Given the description of an element on the screen output the (x, y) to click on. 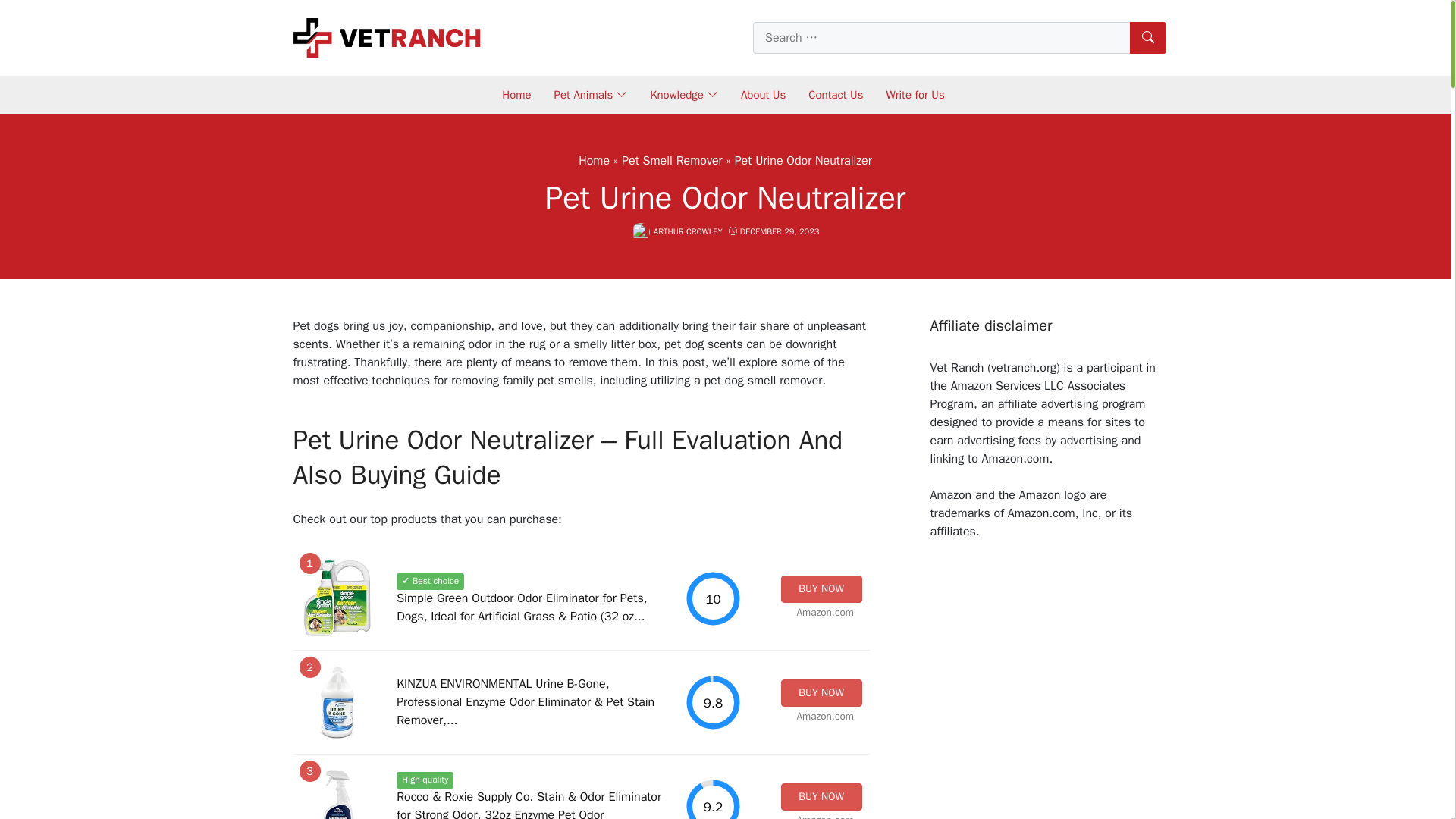
Pet Animals (590, 94)
View all posts by Arthur Crowley (687, 231)
Vet Ranch (386, 37)
9.8 (712, 702)
10 (712, 598)
Search for: (959, 38)
Vet Ranch (386, 37)
9.2 (712, 798)
